Given the description of an element on the screen output the (x, y) to click on. 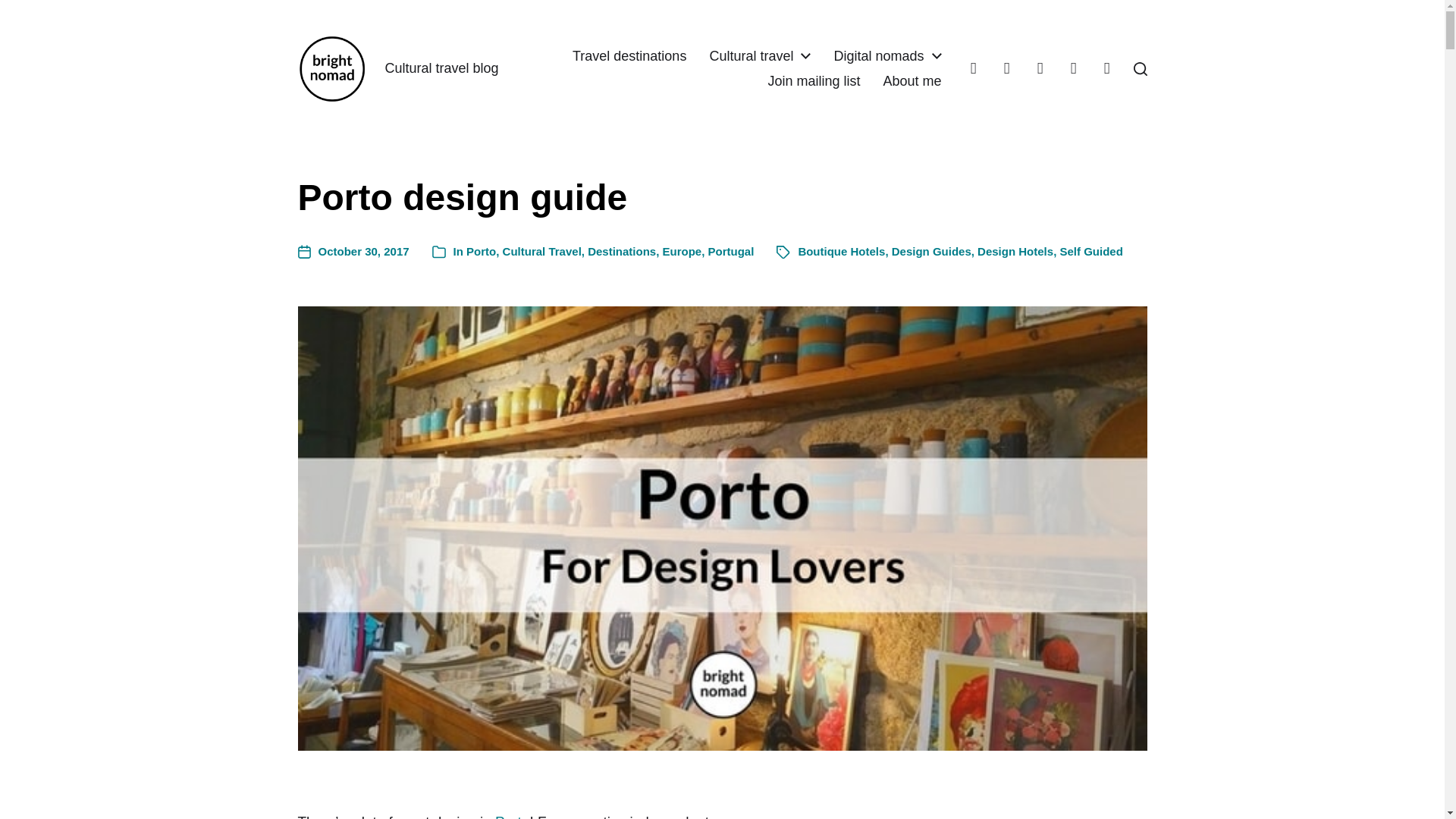
Cultural travel (751, 56)
About me (911, 80)
Join mailing list (813, 80)
Travel destinations (628, 56)
Digital nomads (877, 56)
